Given the description of an element on the screen output the (x, y) to click on. 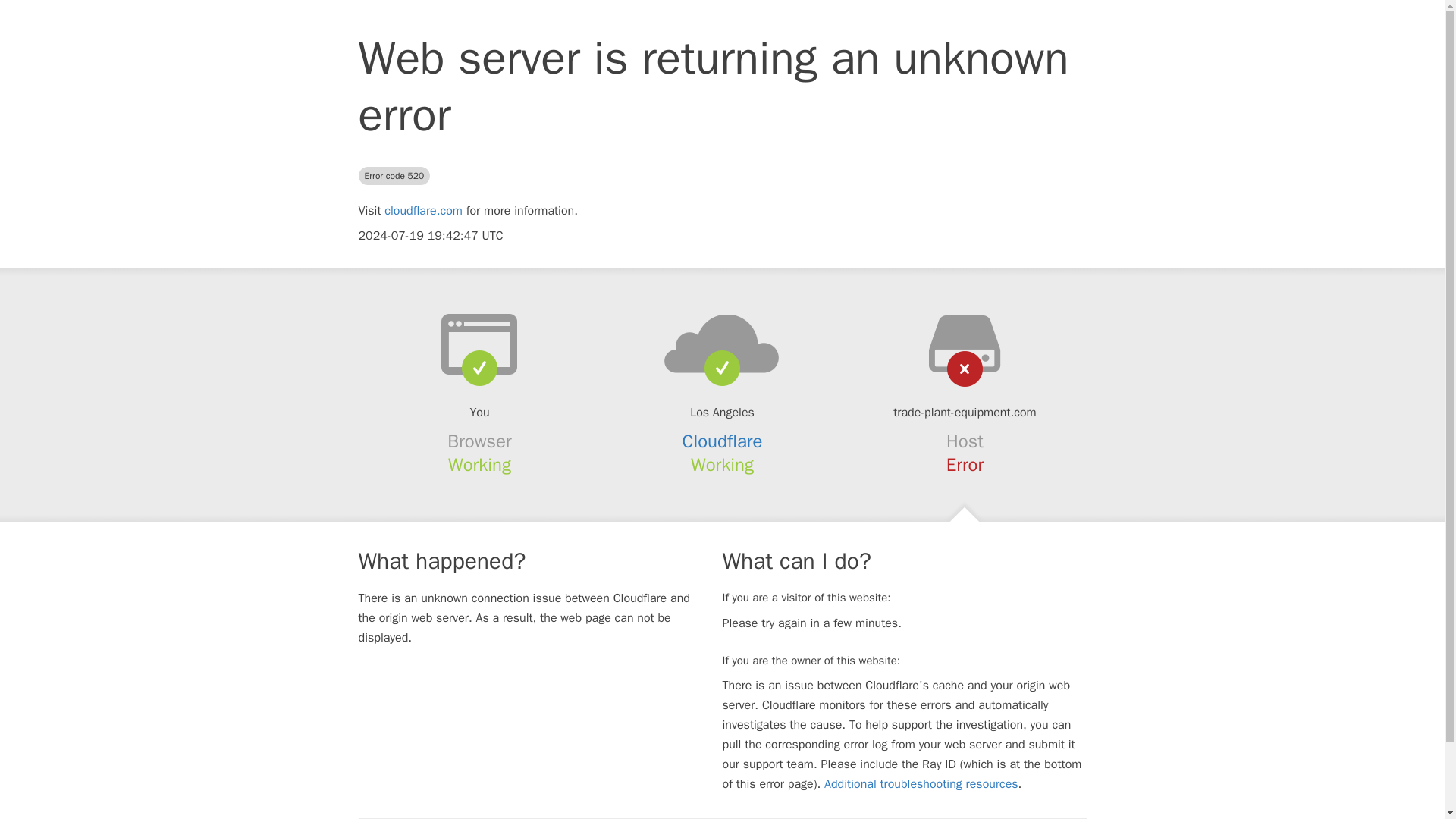
Cloudflare (722, 440)
Additional troubleshooting resources (920, 783)
cloudflare.com (423, 210)
